Given the description of an element on the screen output the (x, y) to click on. 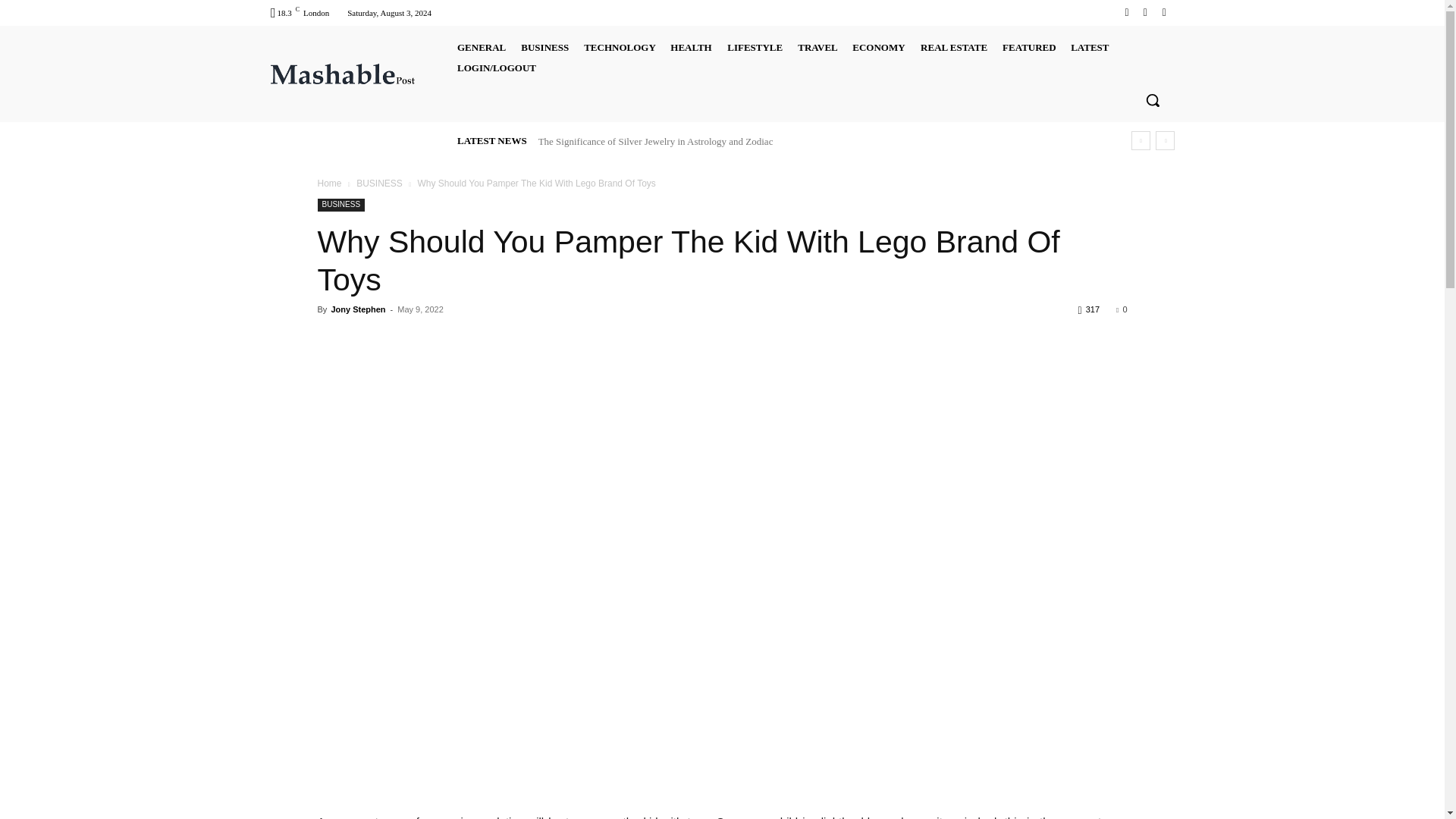
REAL ESTATE (953, 46)
GENERAL (480, 46)
LIFESTYLE (754, 46)
HEALTH (690, 46)
TRAVEL (818, 46)
TECHNOLOGY (620, 46)
BUSINESS (545, 46)
LATEST (1089, 46)
FEATURED (1028, 46)
ECONOMY (878, 46)
